Given the description of an element on the screen output the (x, y) to click on. 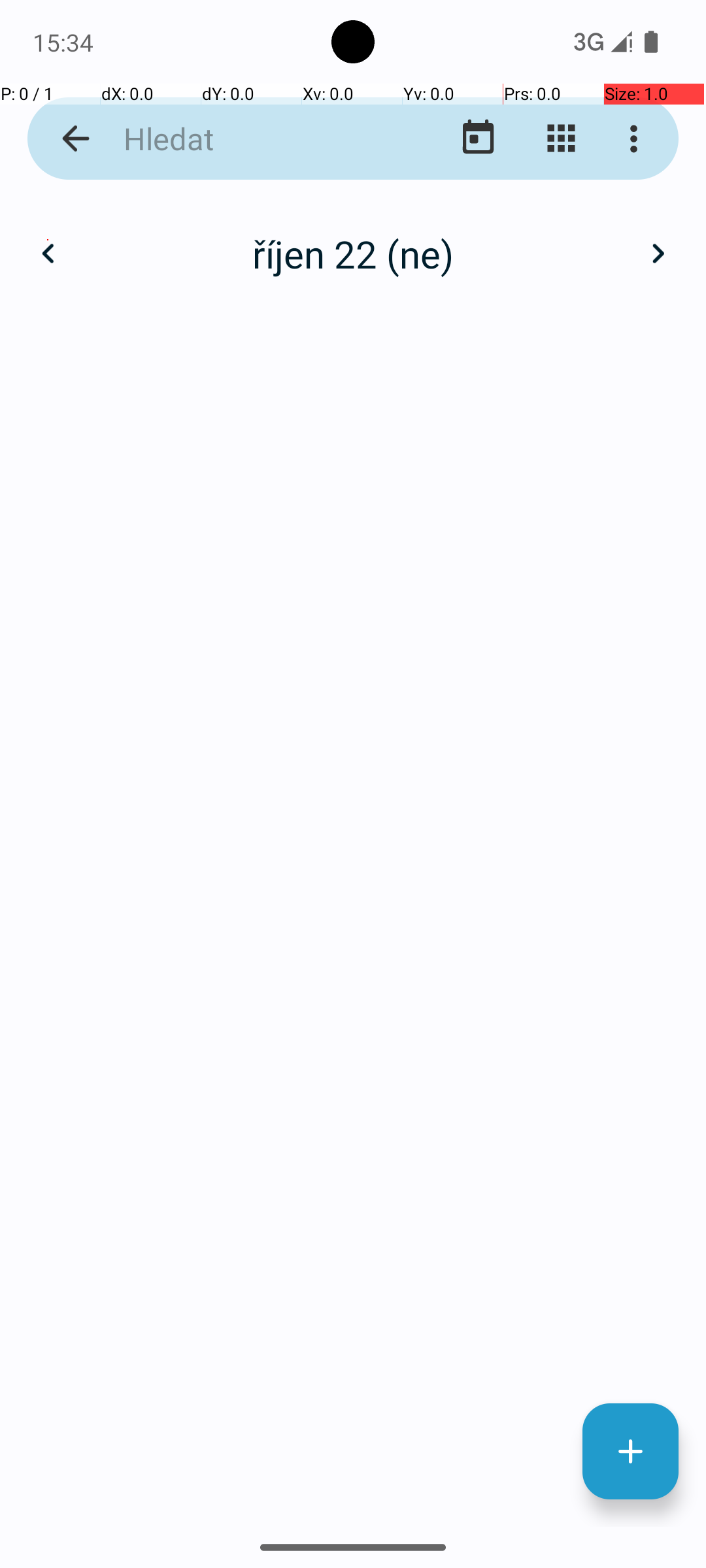
Přejít na dnešní datum Element type: android.widget.Button (477, 138)
říjen Element type: android.widget.TextView (352, 239)
říjen 22 (ne) Element type: android.widget.TextView (352, 253)
